Given the description of an element on the screen output the (x, y) to click on. 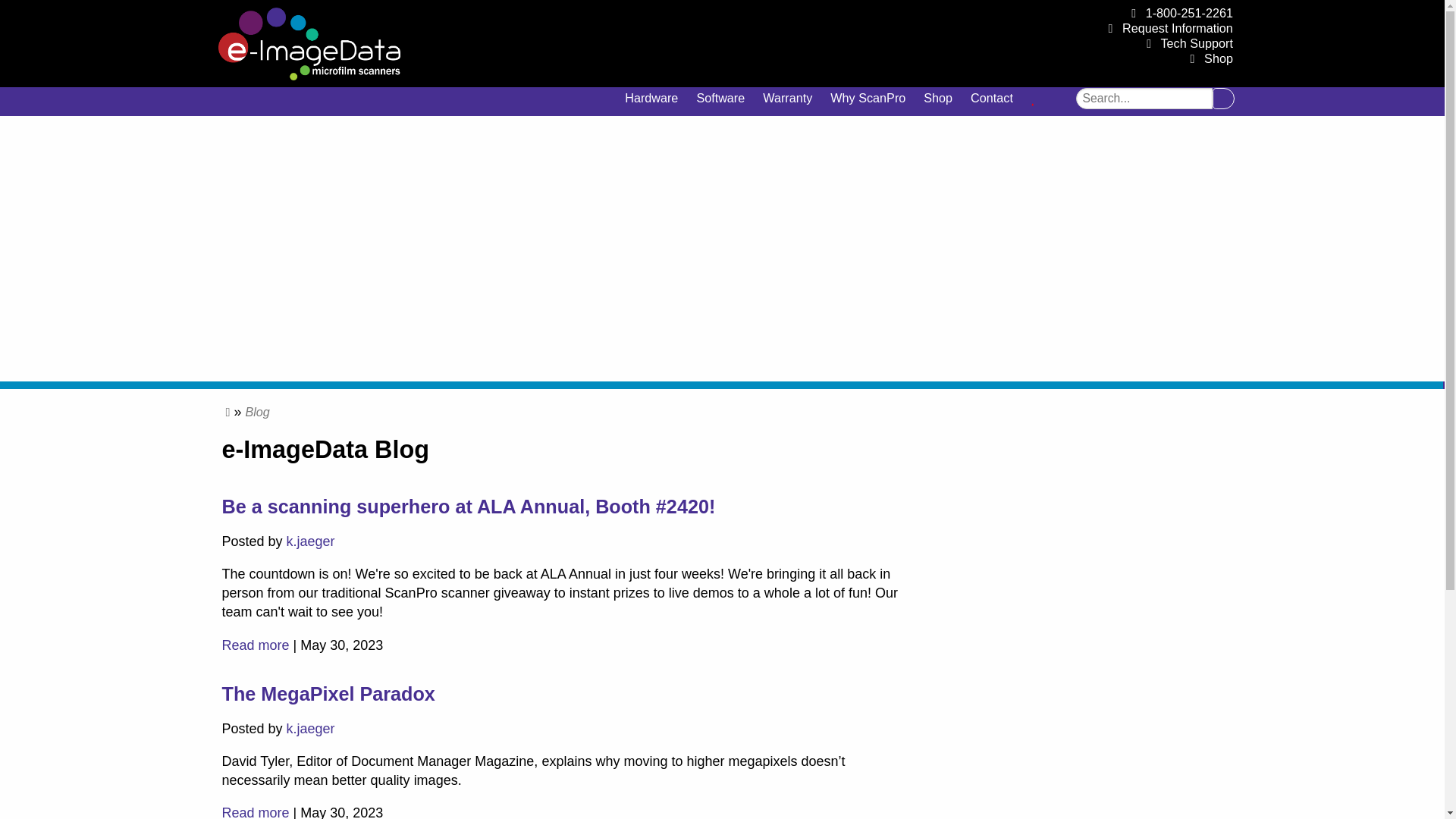
Why ScanPro (867, 98)
Read more (254, 812)
Request Information (1177, 28)
Contact Us (991, 98)
1-800-251-2261 (1189, 12)
Read more (254, 645)
k.jaeger (310, 728)
Contact (991, 98)
The MegaPixel Paradox (327, 693)
k.jaeger (310, 540)
